Given the description of an element on the screen output the (x, y) to click on. 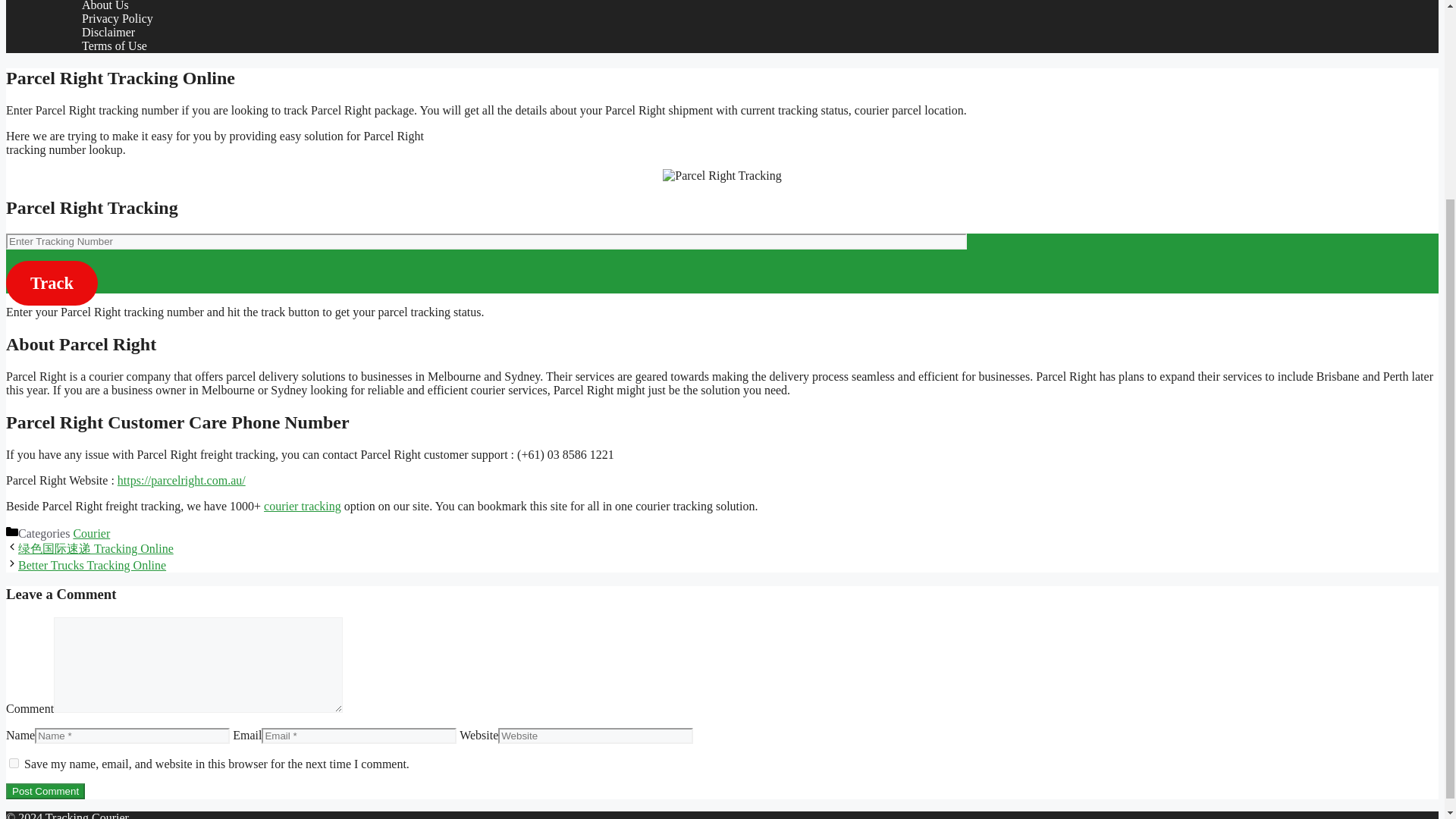
Courier (91, 533)
courier tracking (301, 505)
Disclaimer (108, 31)
Privacy Policy (116, 18)
Post Comment (44, 790)
yes (13, 763)
Terms of Use (114, 45)
Better Trucks Tracking Online (91, 564)
Track (51, 283)
About Us (105, 5)
